Given the description of an element on the screen output the (x, y) to click on. 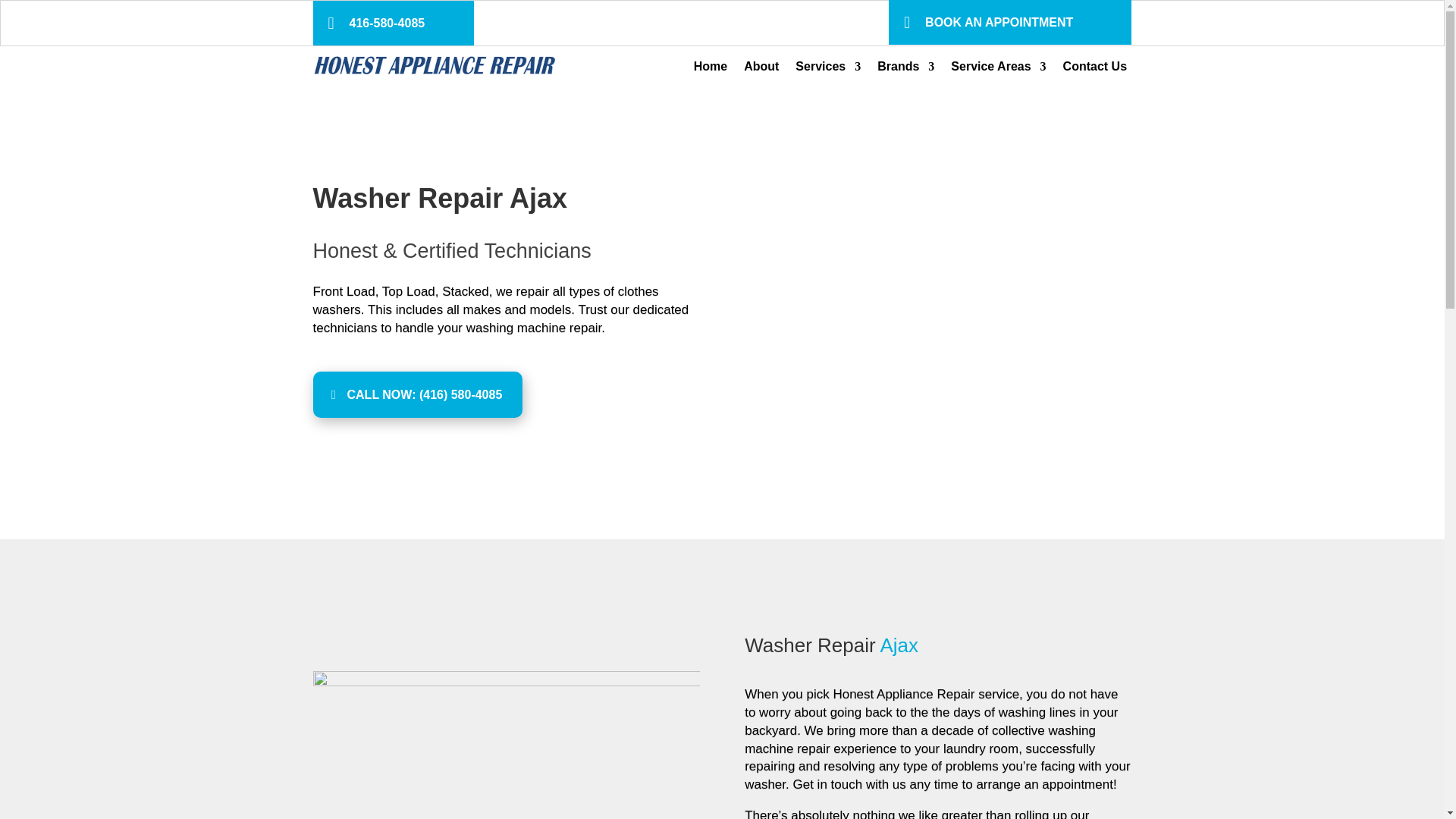
wahser (505, 744)
About (761, 69)
Contact Us (1094, 69)
Service Areas (997, 69)
Home (710, 69)
honest-appliace-repair-logo (433, 65)
Services (827, 69)
Brands (905, 69)
